Given the description of an element on the screen output the (x, y) to click on. 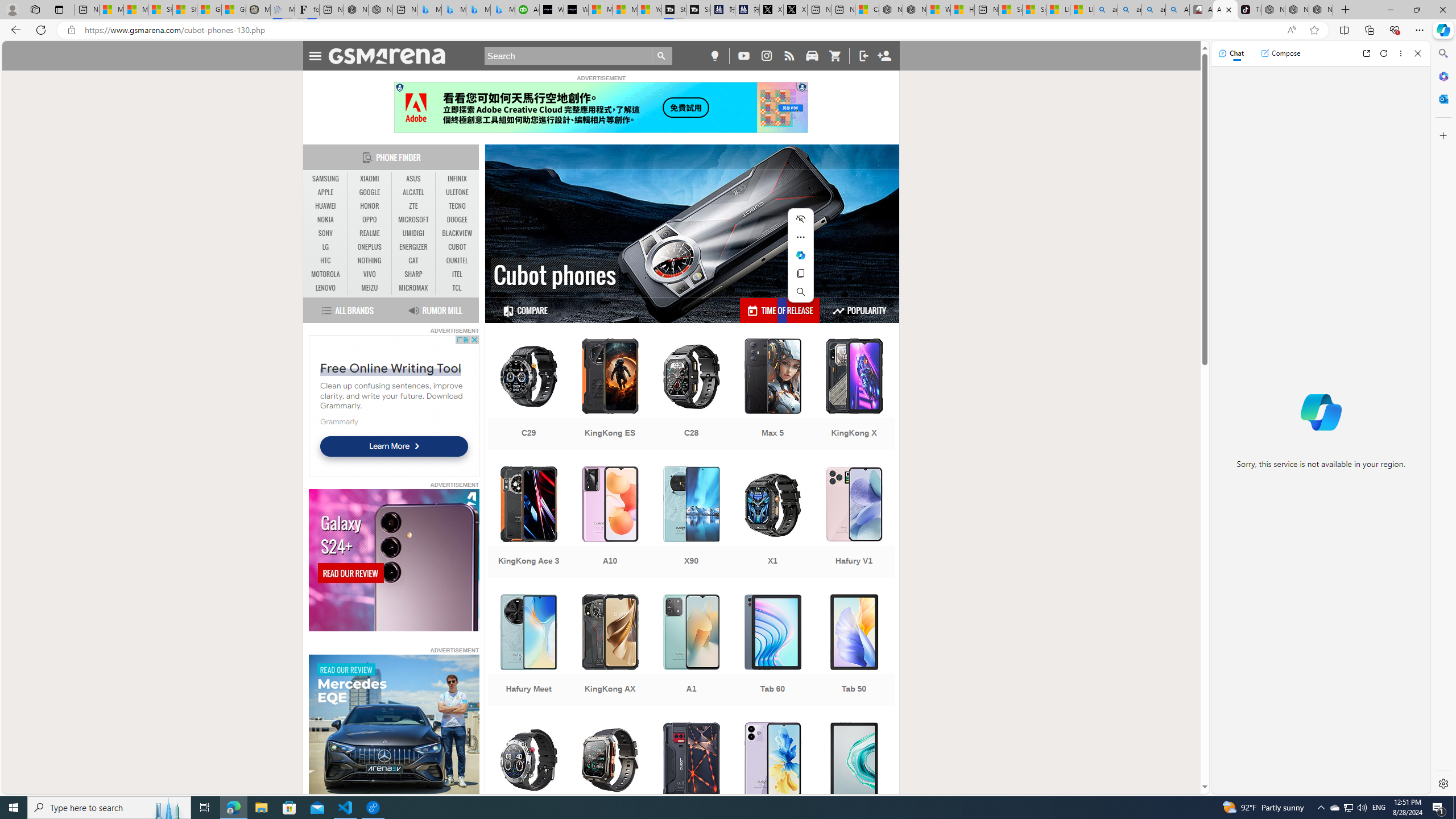
Class: qc-adchoices-icon (802, 86)
SAMSUNG (325, 178)
amazon - Search Images (1153, 9)
NOKIA (325, 219)
SAMSUNG (325, 178)
XIAOMI (369, 178)
LENOVO (325, 287)
